Given the description of an element on the screen output the (x, y) to click on. 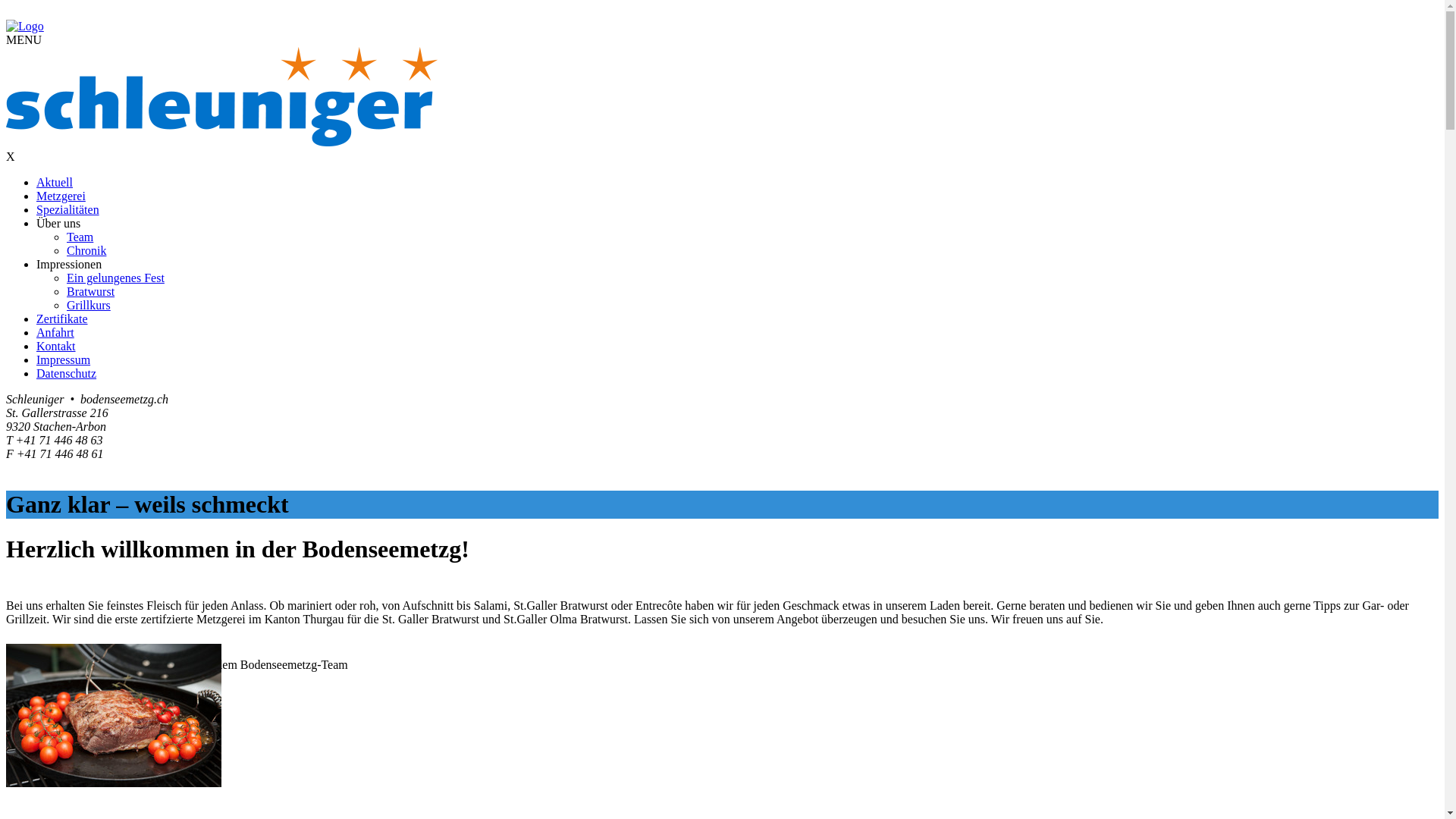
Aktuell Element type: text (54, 181)
Metzgerei Element type: text (60, 195)
Grillkurs Element type: text (88, 304)
Chronik Element type: text (86, 250)
Team Element type: text (79, 236)
Ein gelungenes Fest Element type: text (115, 277)
Zertifikate Element type: text (61, 318)
Datenschutz Element type: text (66, 373)
Impressum Element type: text (63, 359)
Anfahrt Element type: text (55, 332)
Bratwurst Element type: text (90, 291)
Kontakt Element type: text (55, 345)
